Given the description of an element on the screen output the (x, y) to click on. 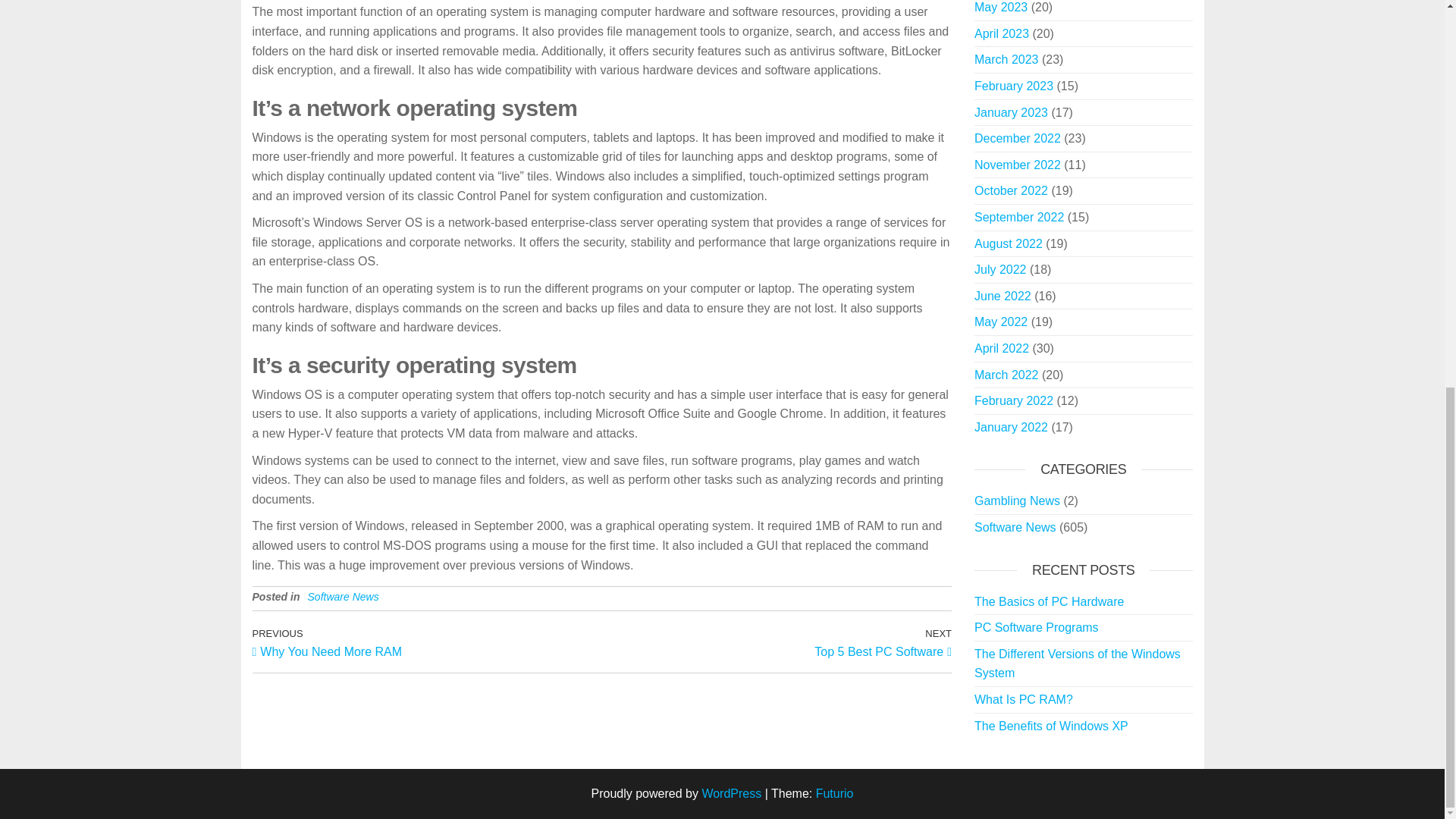
August 2022 (1008, 243)
September 2022 (1019, 216)
May 2022 (1000, 321)
February 2023 (1013, 85)
Software News (426, 642)
January 2023 (342, 596)
June 2022 (1011, 112)
May 2023 (777, 642)
